Given the description of an element on the screen output the (x, y) to click on. 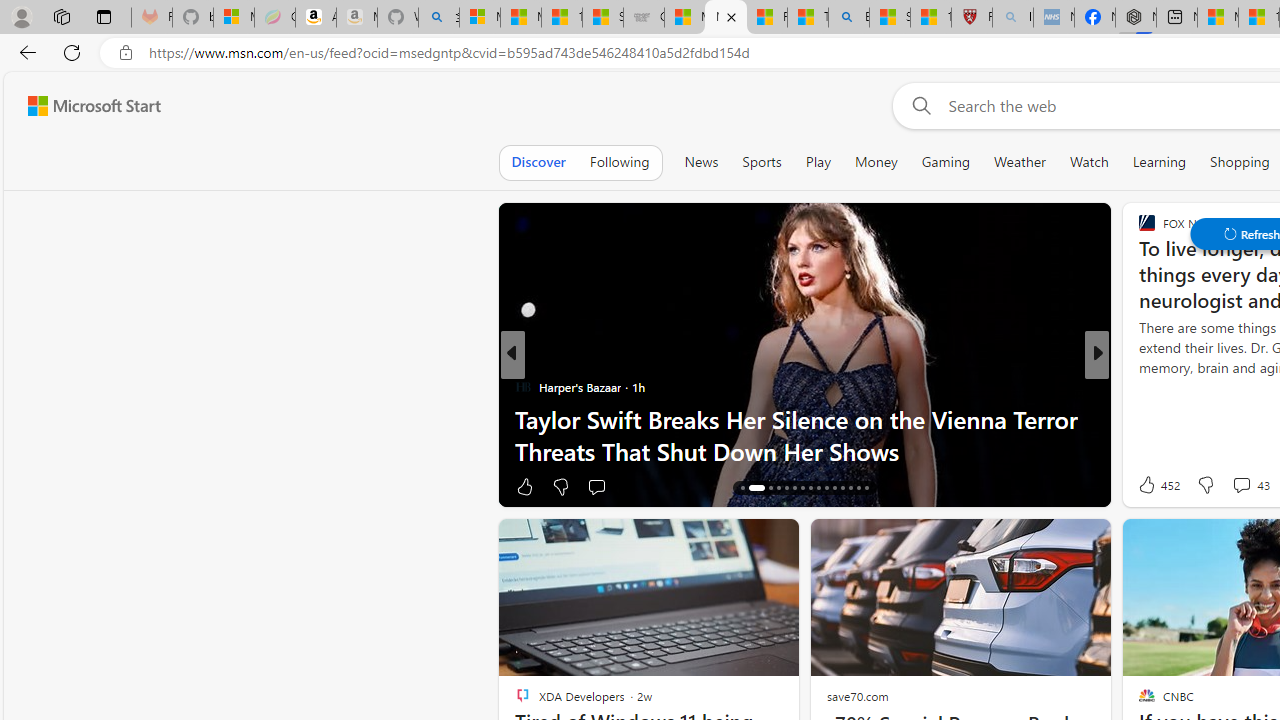
AutomationID: tab-20 (786, 487)
View comments 4 Comment (1234, 485)
View comments 89 Comment (1234, 485)
View comments 3 Comment (1222, 485)
View comments 43 Comment (1249, 484)
20 Like (1149, 486)
Daily Meal (1138, 418)
6 Like (1145, 486)
Sports (761, 162)
